Given the description of an element on the screen output the (x, y) to click on. 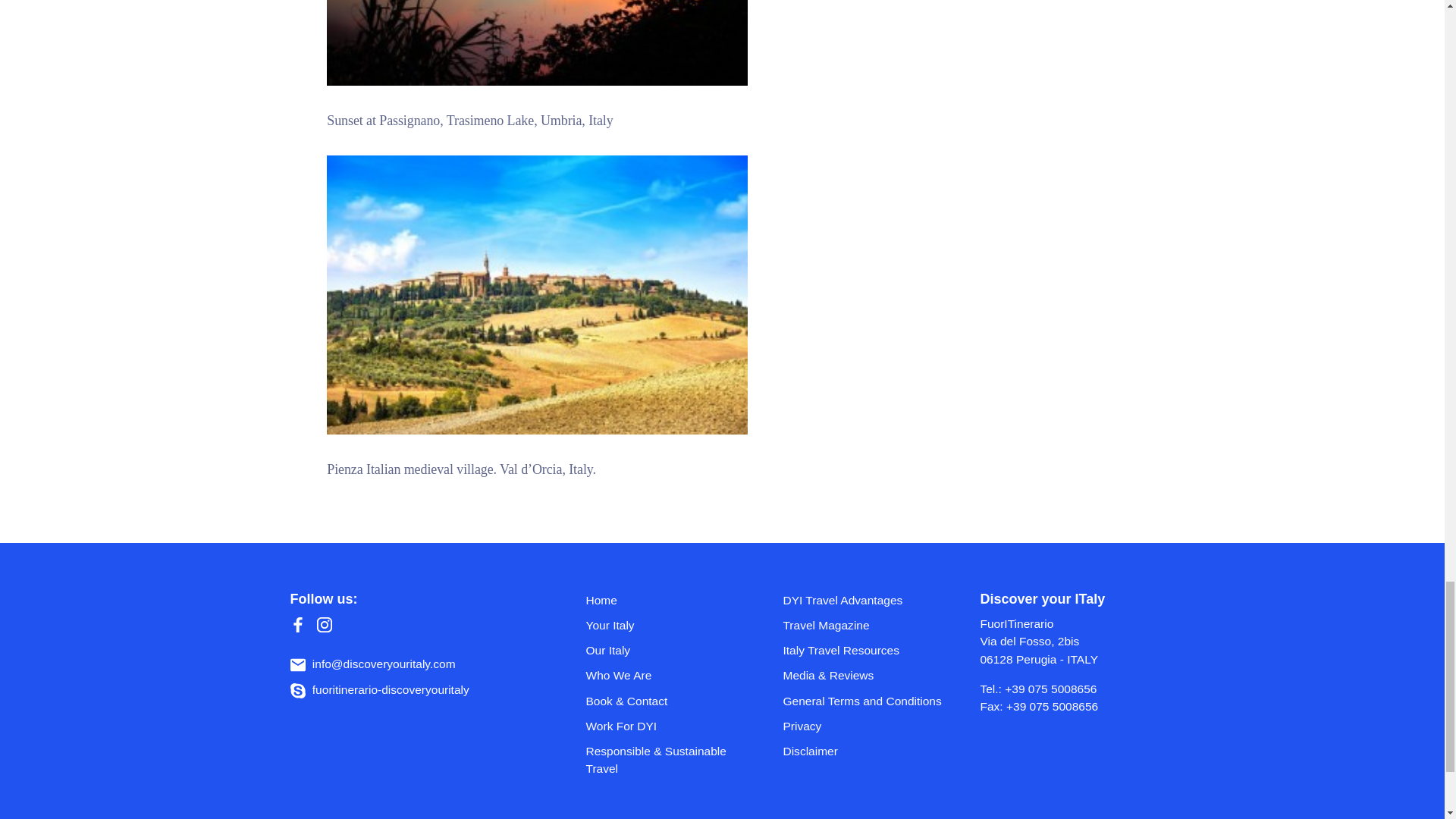
Travel Magazine (826, 625)
Your Italy (609, 625)
Italy Travel Resources (841, 649)
Privacy (802, 725)
fuoritinerario-discoveryouritaly (378, 689)
Work For DYI (620, 725)
Disclaimer (810, 750)
Who We Are (617, 675)
Our Italy (607, 649)
DYI Travel Advantages (842, 599)
Home (600, 599)
General Terms and Conditions (861, 700)
